Given the description of an element on the screen output the (x, y) to click on. 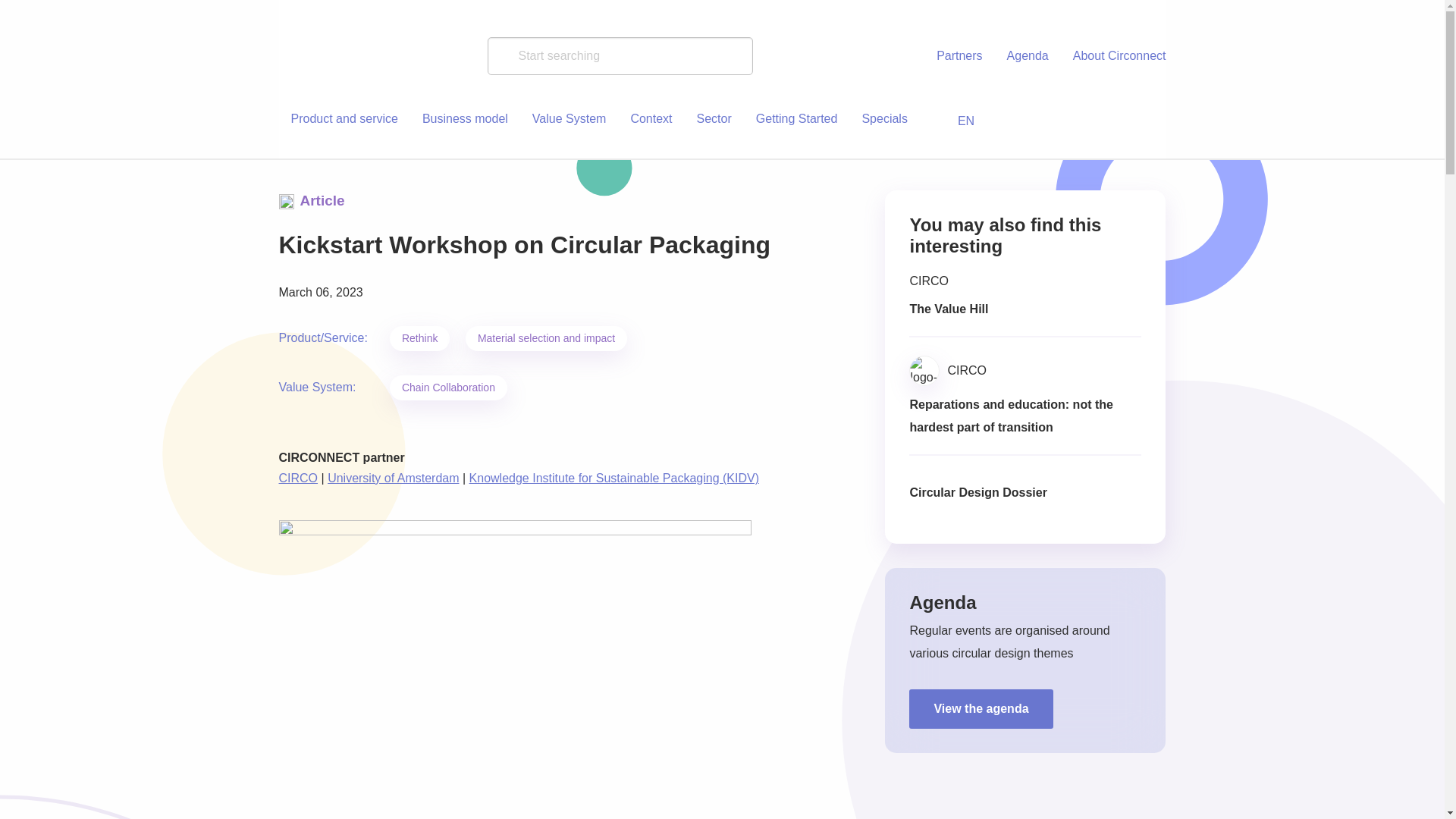
Circonnect (370, 55)
Agenda (1027, 55)
Product and service (344, 118)
English (953, 121)
Sector (714, 118)
Partners (959, 55)
About Circonnect (1113, 55)
Getting Started (797, 118)
Context (650, 118)
Value System (568, 118)
